Given the description of an element on the screen output the (x, y) to click on. 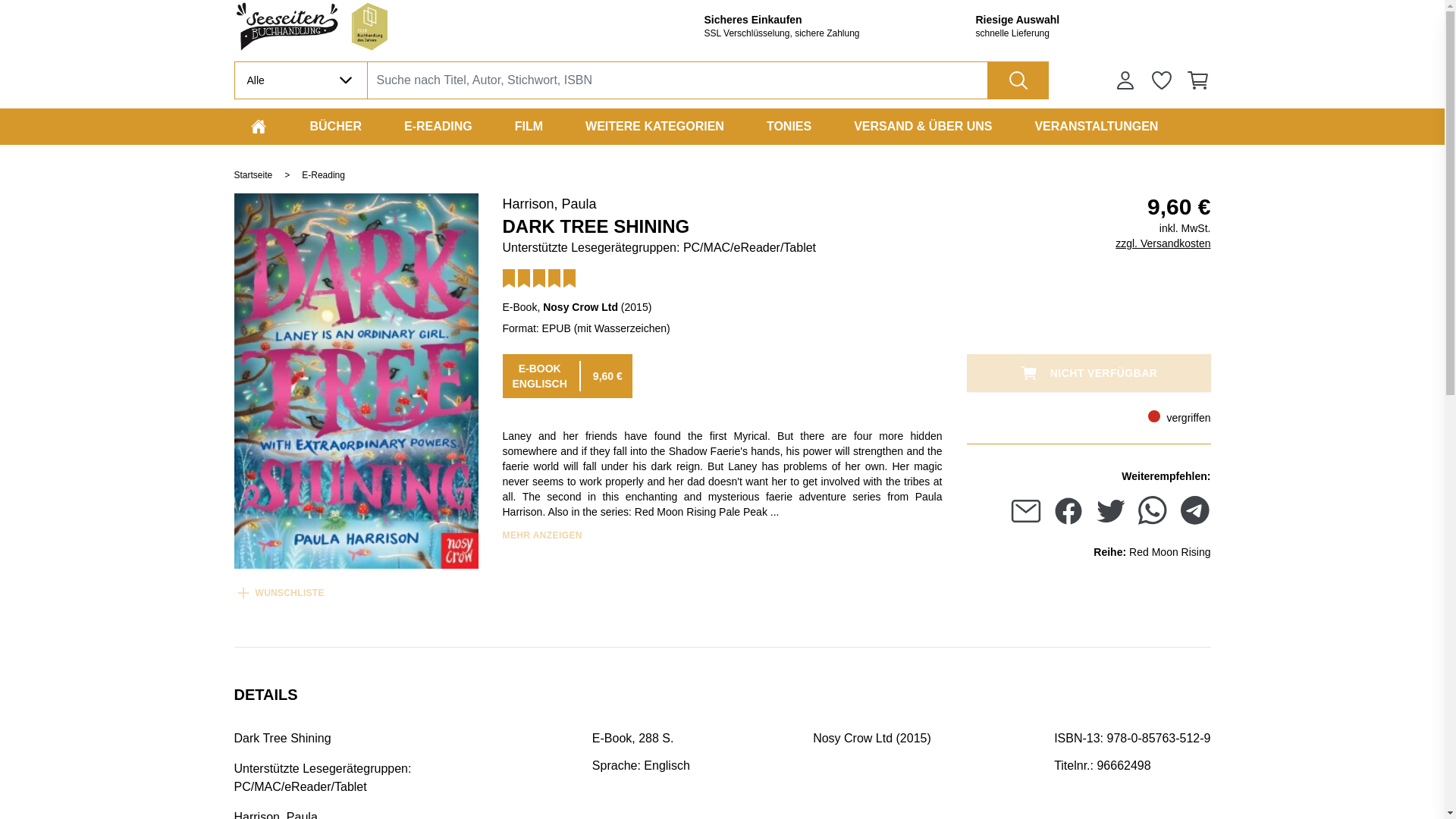
Red Moon Rising (1169, 554)
E-Reading (437, 126)
Film (528, 126)
VERANSTALTUNGEN (1096, 126)
WEITERE KATEGORIEN (654, 126)
Nosy Crow Ltd (580, 306)
Sicheres Einkaufen (821, 19)
MEHR ANZEIGEN (541, 535)
TONIES (789, 126)
Harrison, Paula (548, 203)
